Given the description of an element on the screen output the (x, y) to click on. 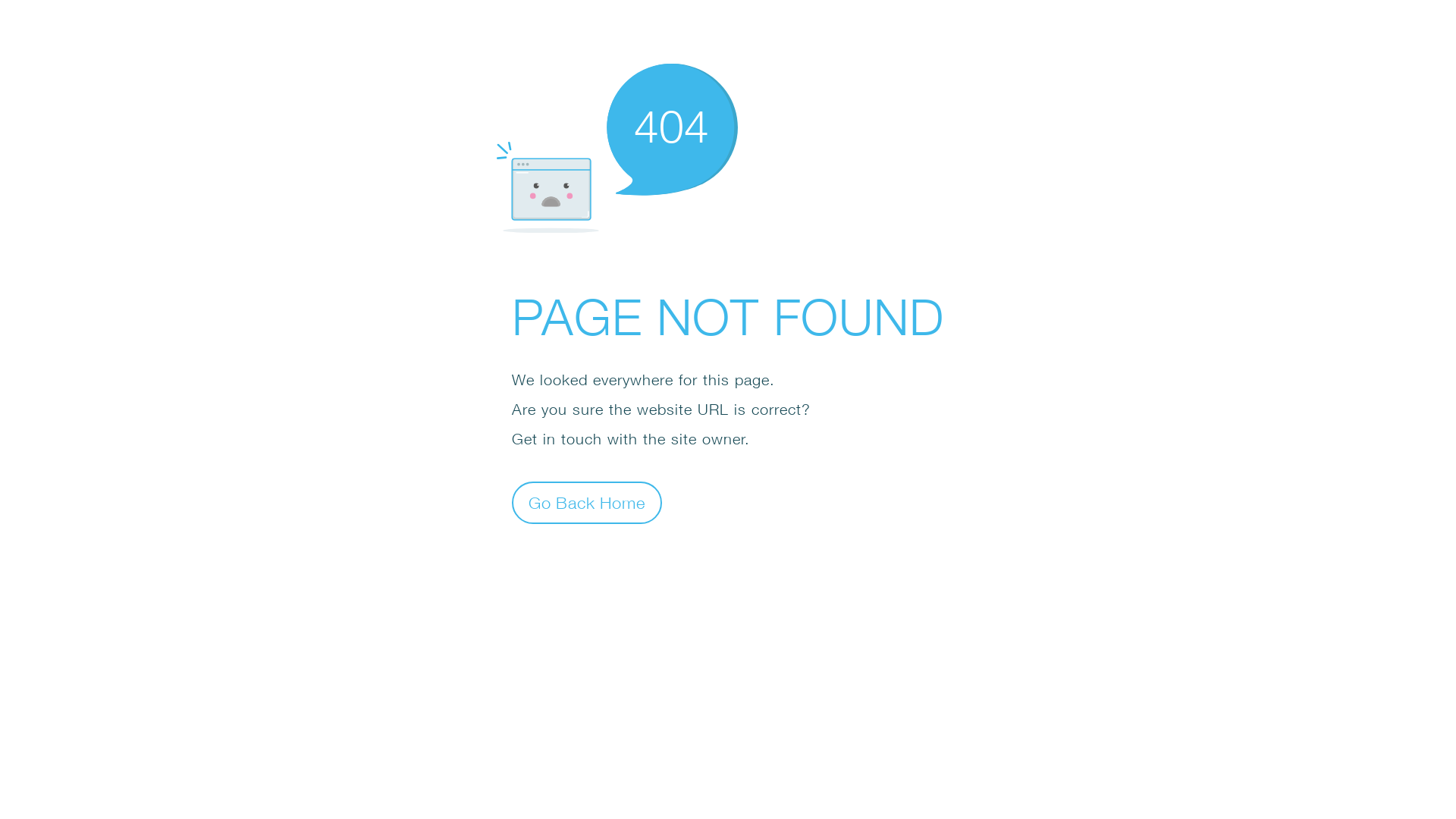
Go Back Home Element type: text (586, 502)
